Given the description of an element on the screen output the (x, y) to click on. 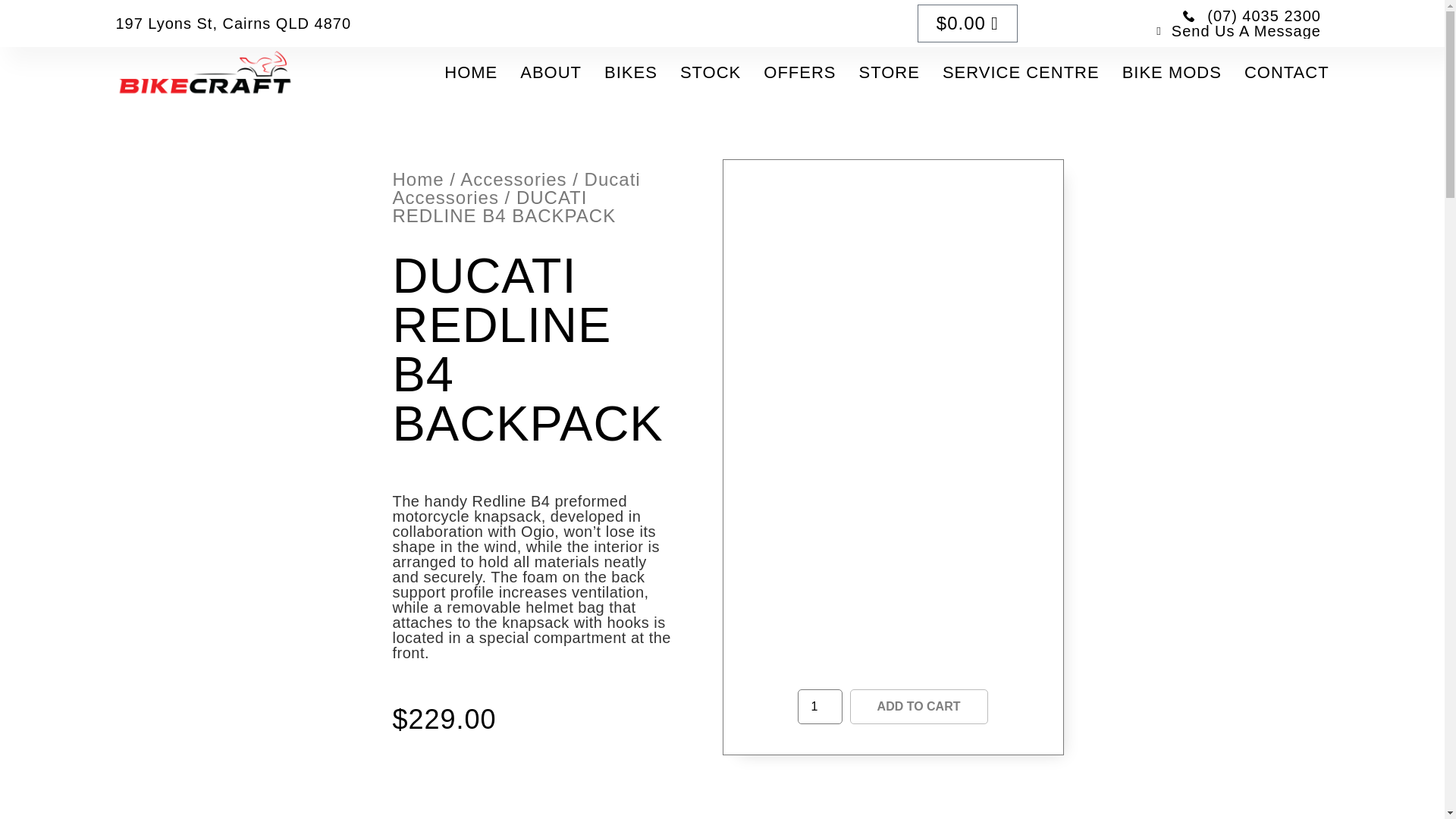
Send Us A Message (1233, 30)
ADD TO CART (919, 706)
STORE (888, 72)
STOCK (710, 72)
BIKE MODS (1171, 72)
ABOUT (549, 72)
OFFERS (798, 72)
HOME (470, 72)
Home (418, 178)
CONTACT (1286, 72)
